Given the description of an element on the screen output the (x, y) to click on. 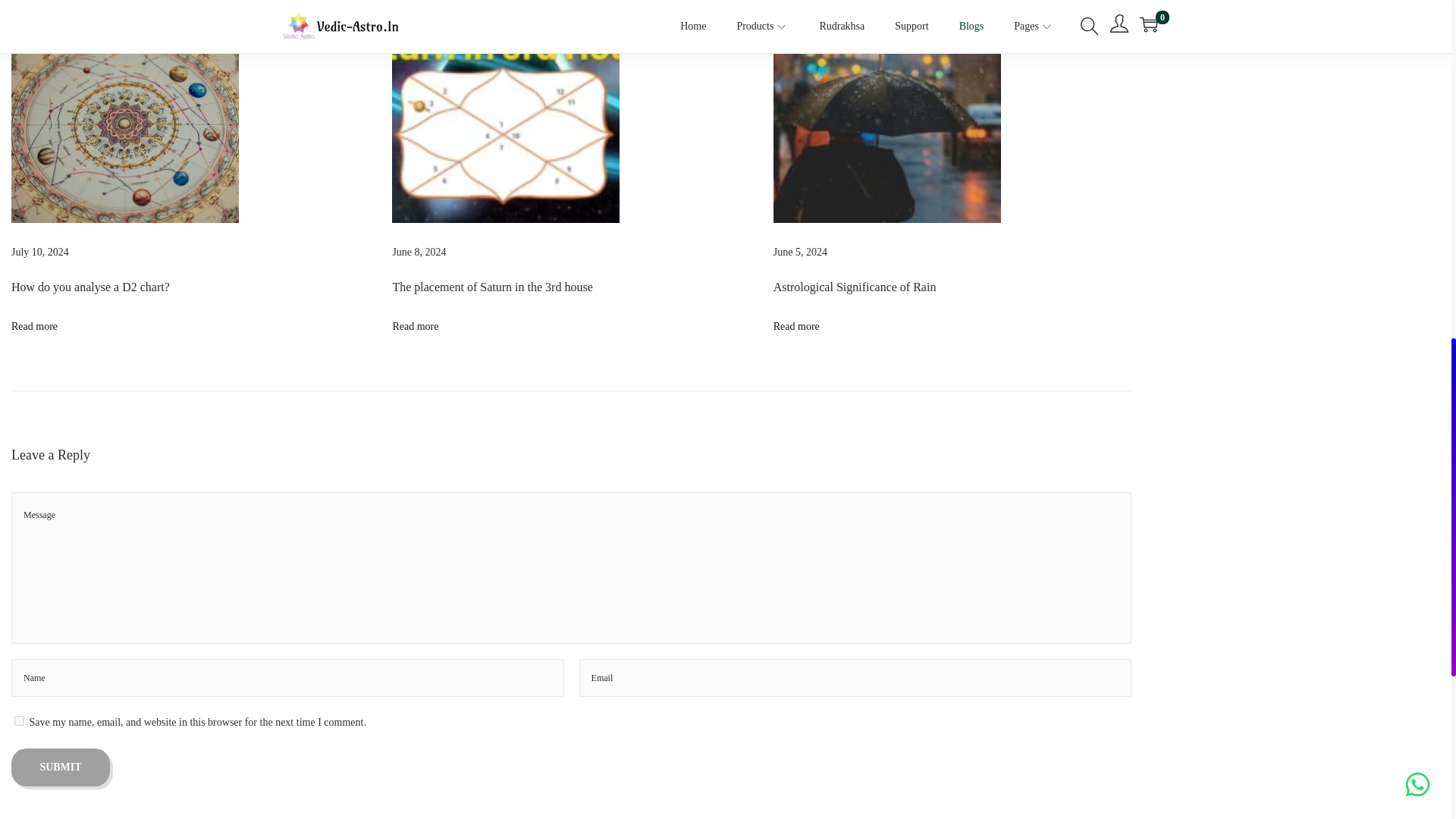
Submit (60, 767)
yes (19, 720)
